Given the description of an element on the screen output the (x, y) to click on. 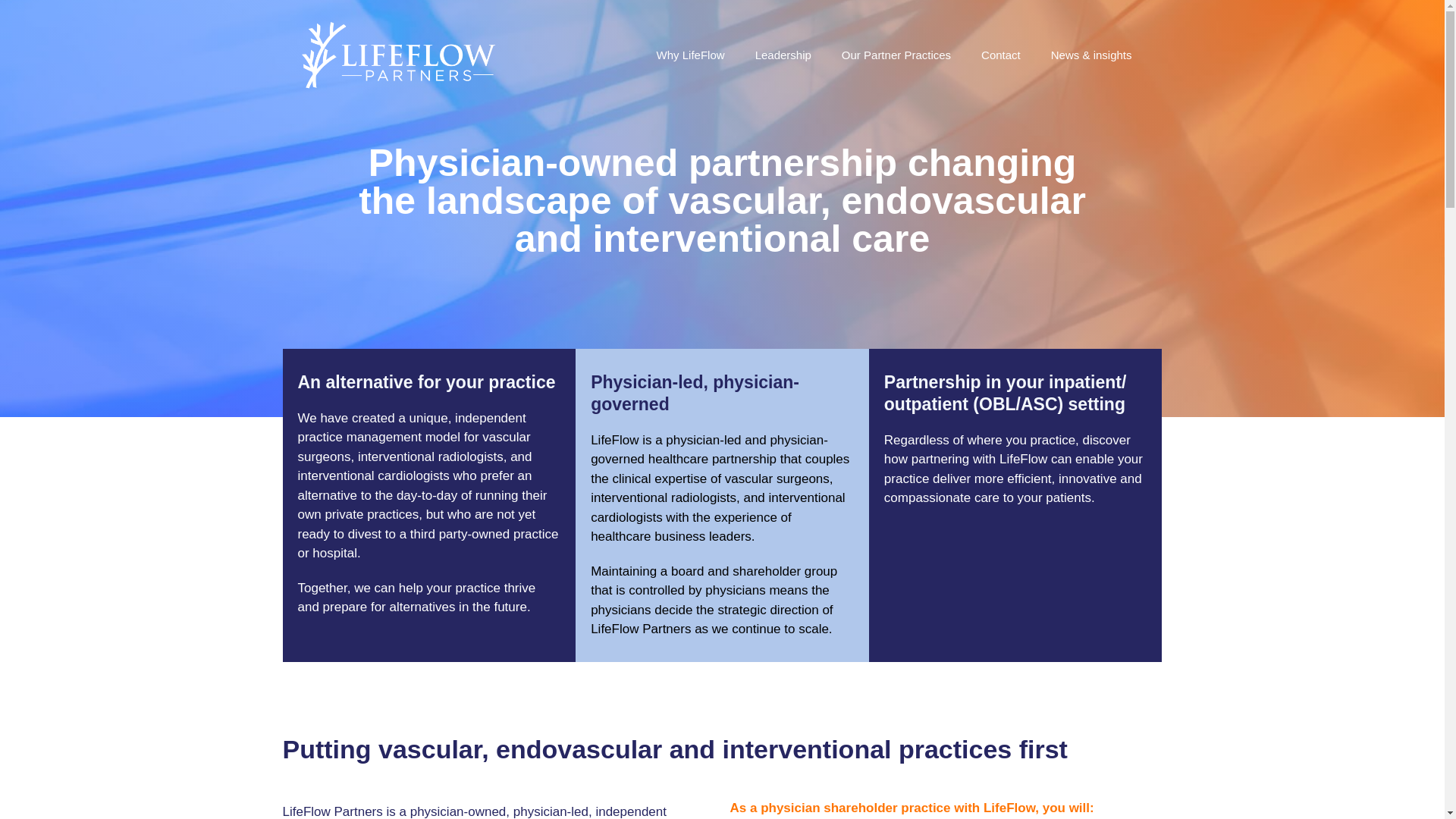
Leadership (783, 54)
Contact (1000, 54)
Why LifeFlow (690, 54)
Our Partner Practices (896, 54)
